Given the description of an element on the screen output the (x, y) to click on. 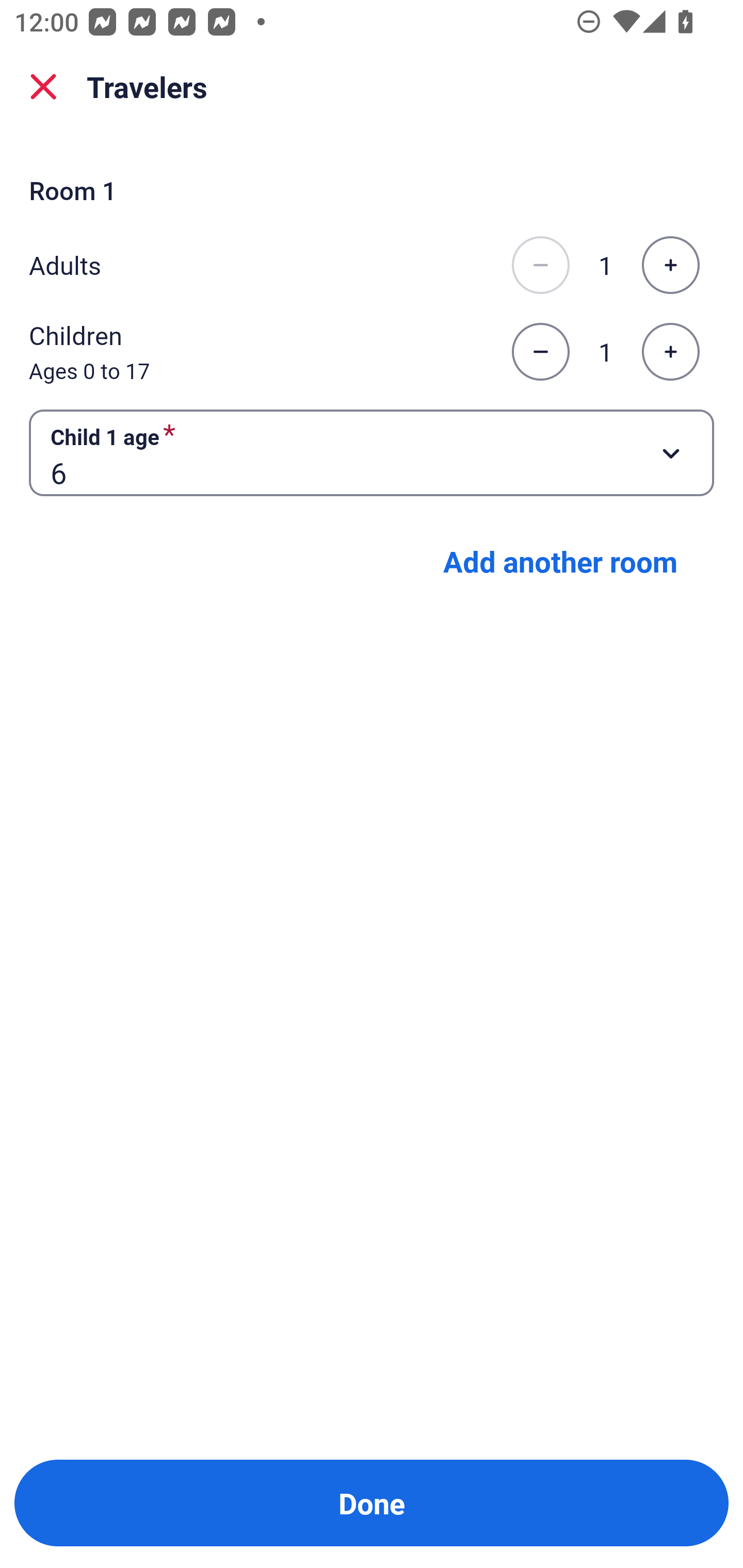
close (43, 86)
Decrease the number of adults (540, 264)
Increase the number of adults (670, 264)
Decrease the number of children (540, 351)
Increase the number of children (670, 351)
Child 1 age required Button 6 (371, 452)
Add another room (560, 561)
Done (371, 1502)
